Given the description of an element on the screen output the (x, y) to click on. 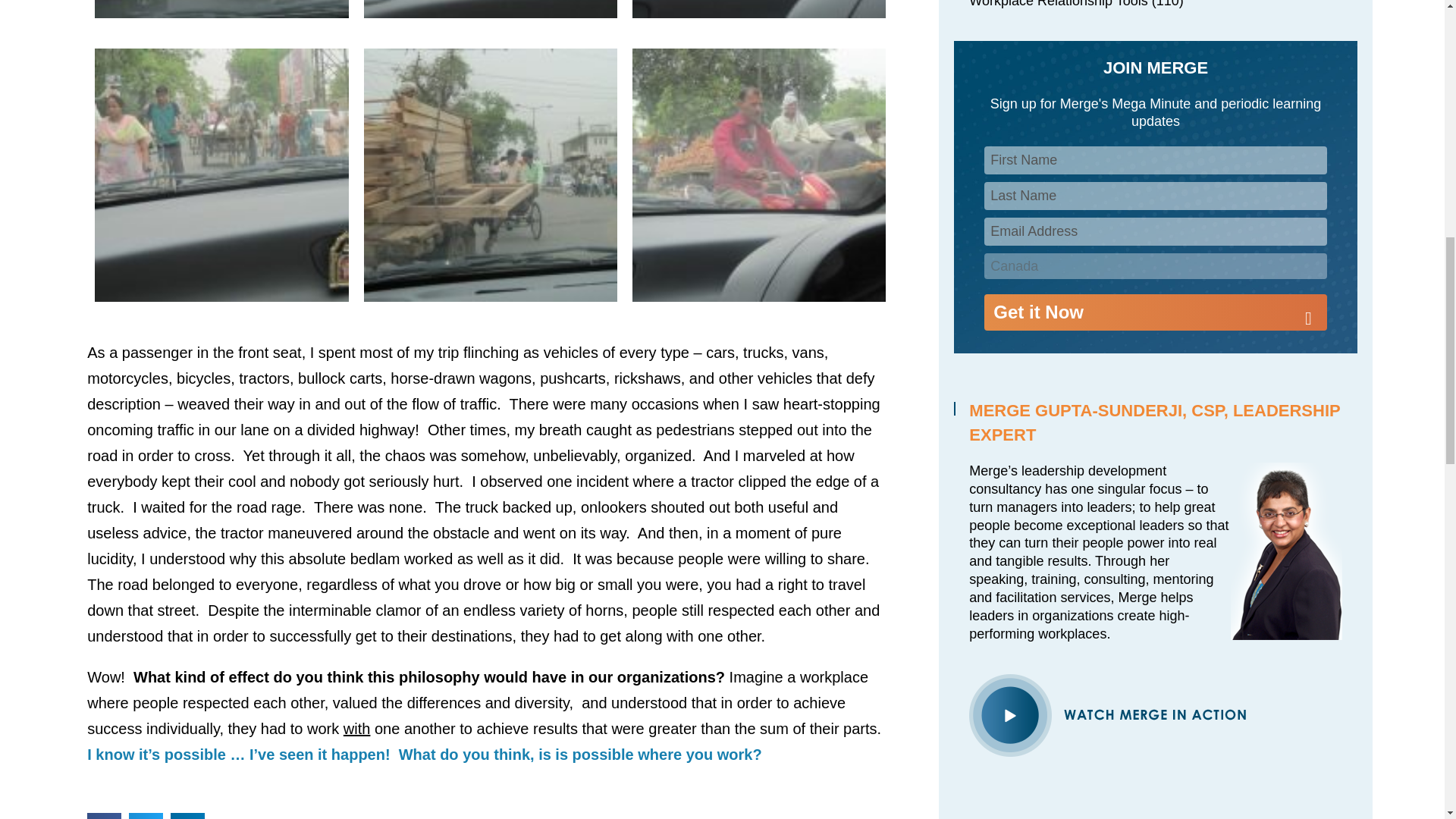
Email Address (1155, 231)
First Name (1155, 160)
Last Name (1155, 195)
Get it Now (1155, 312)
